Given the description of an element on the screen output the (x, y) to click on. 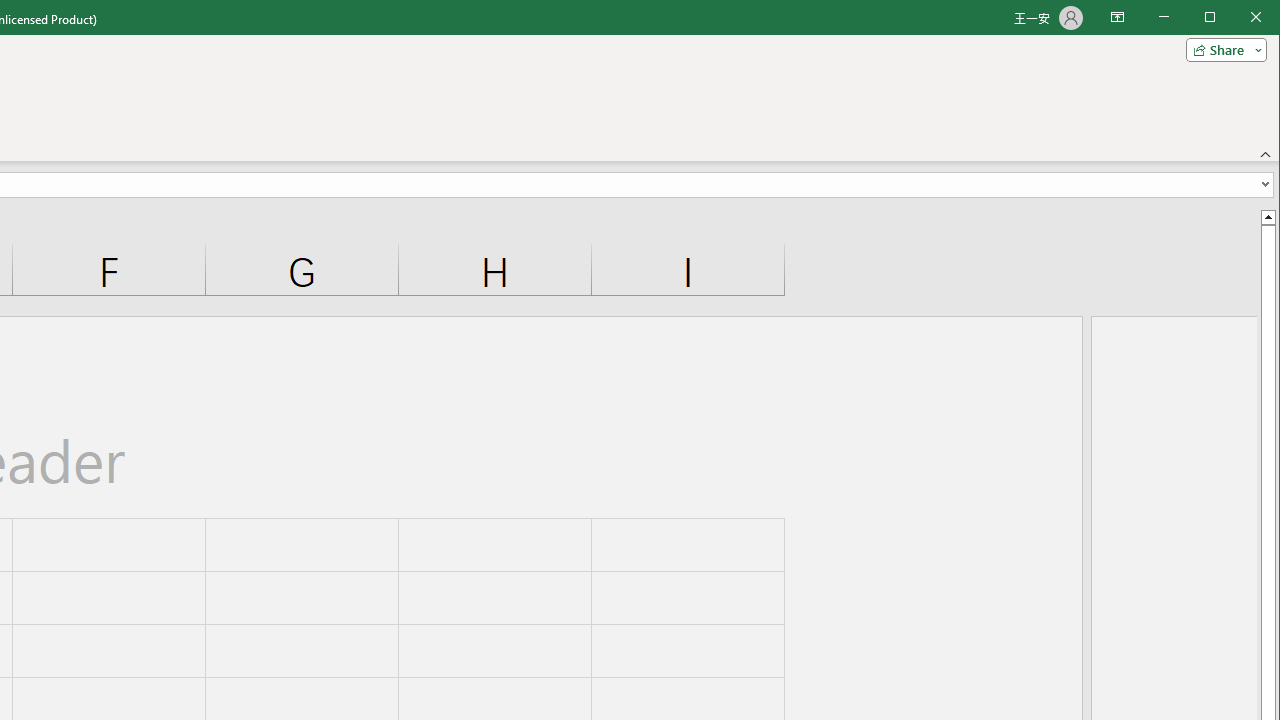
Maximize (1238, 18)
